Given the description of an element on the screen output the (x, y) to click on. 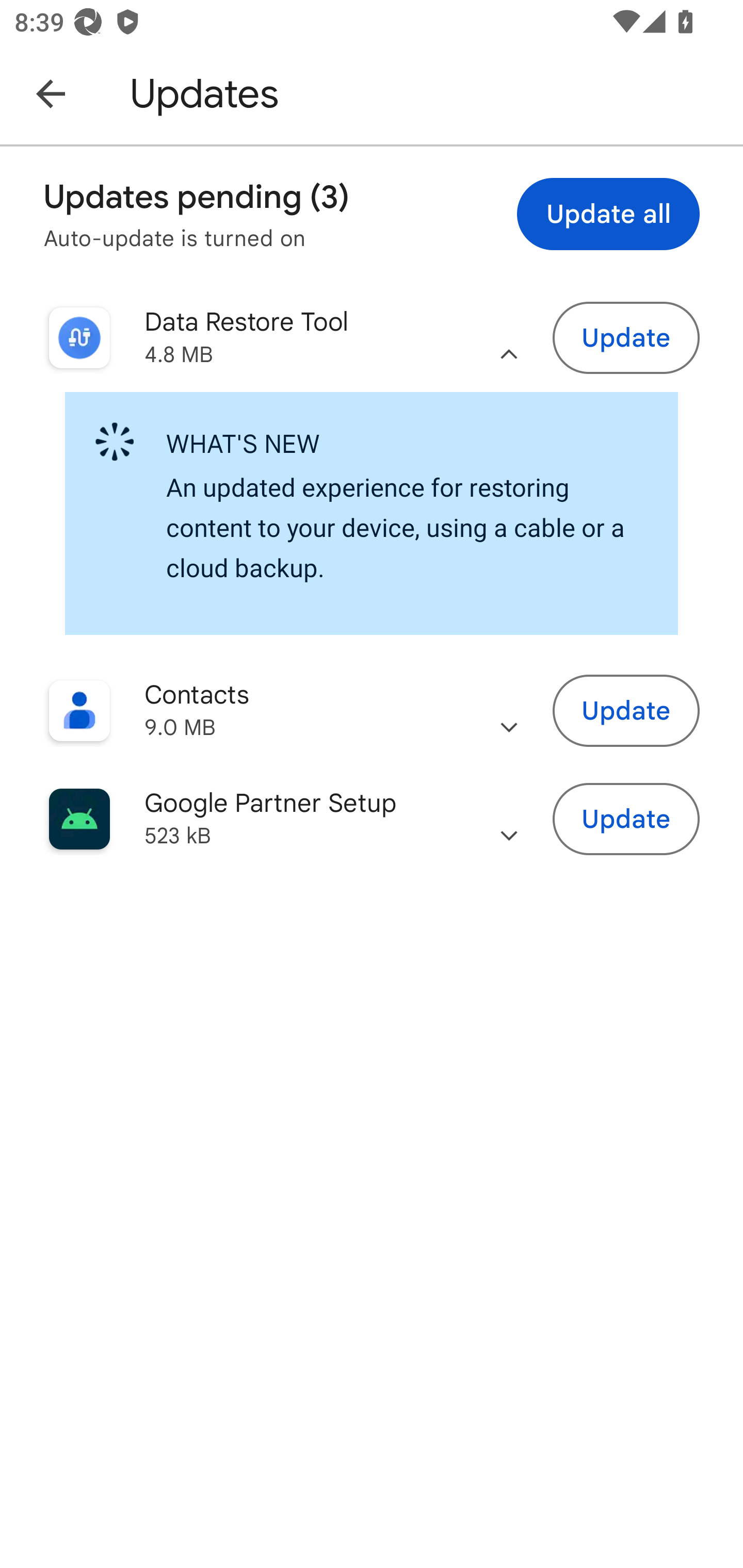
Navigate up (50, 92)
Update all (608, 213)
Changes in the app (508, 337)
Update (625, 337)
Changes in the app (508, 710)
Update (625, 710)
Changes in the app (508, 819)
Update (625, 818)
